Given the description of an element on the screen output the (x, y) to click on. 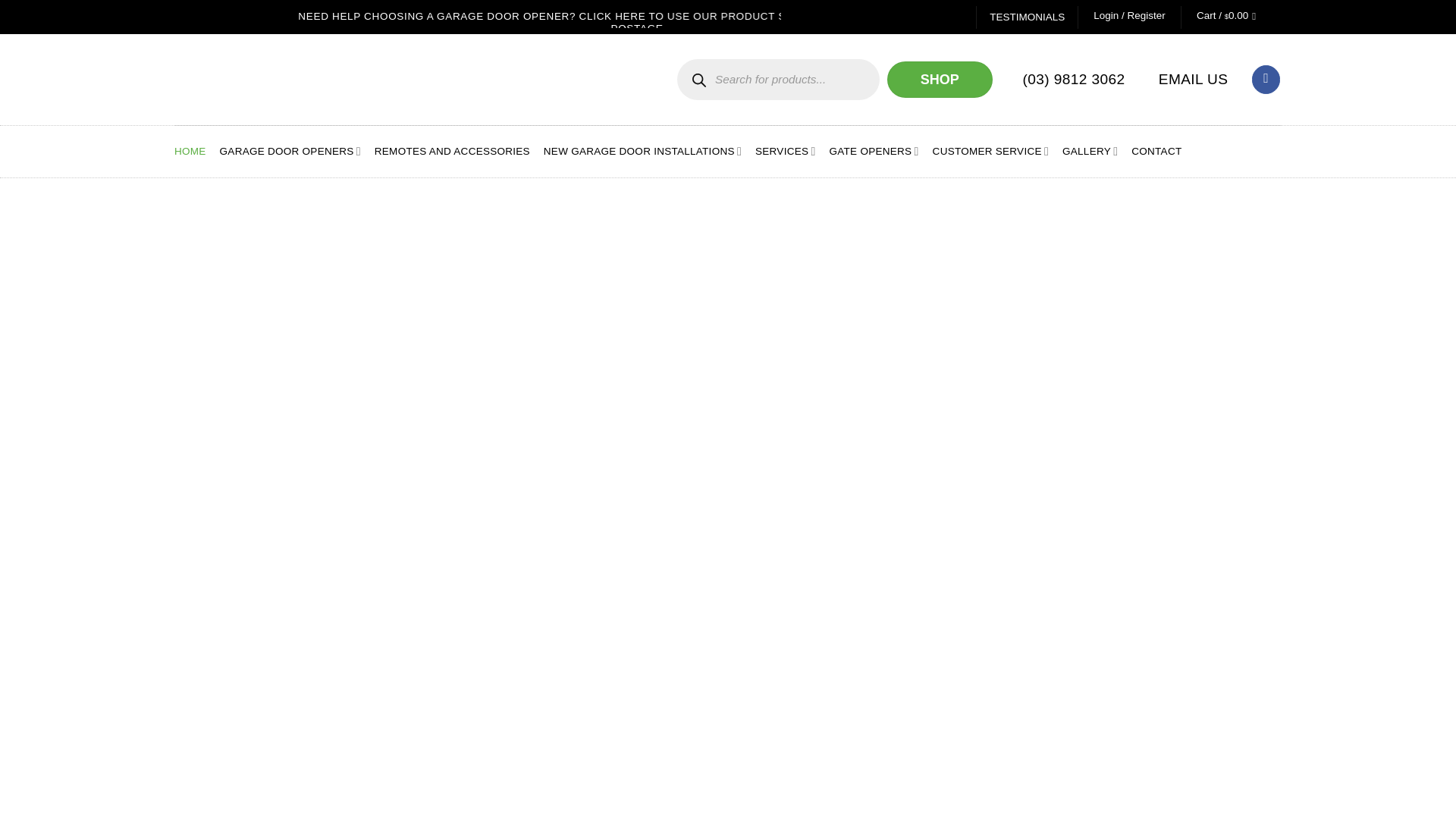
GALLERY Element type: text (1089, 151)
(03) 9812 3062 Element type: text (1070, 79)
NEW GARAGE DOOR INSTALLATIONS Element type: text (642, 151)
GARAGE DOOR OPENERS Element type: text (289, 151)
HOME Element type: text (190, 151)
Cart / $0.00 Element type: text (1229, 16)
SHOP Element type: text (939, 79)
TESTIMONIALS Element type: text (1026, 17)
REMOTES AND ACCESSORIES Element type: text (452, 151)
SERVICES Element type: text (785, 151)
CONTACT Element type: text (1156, 151)
Login / Register Element type: text (1129, 15)
GATE OPENERS Element type: text (874, 151)
CUSTOMER SERVICE Element type: text (990, 151)
Eastern Garage Doors - Your Garage Door Specialists Element type: hover (314, 79)
Follow on Facebook Element type: hover (1266, 79)
EMAIL US Element type: text (1189, 79)
